Given the description of an element on the screen output the (x, y) to click on. 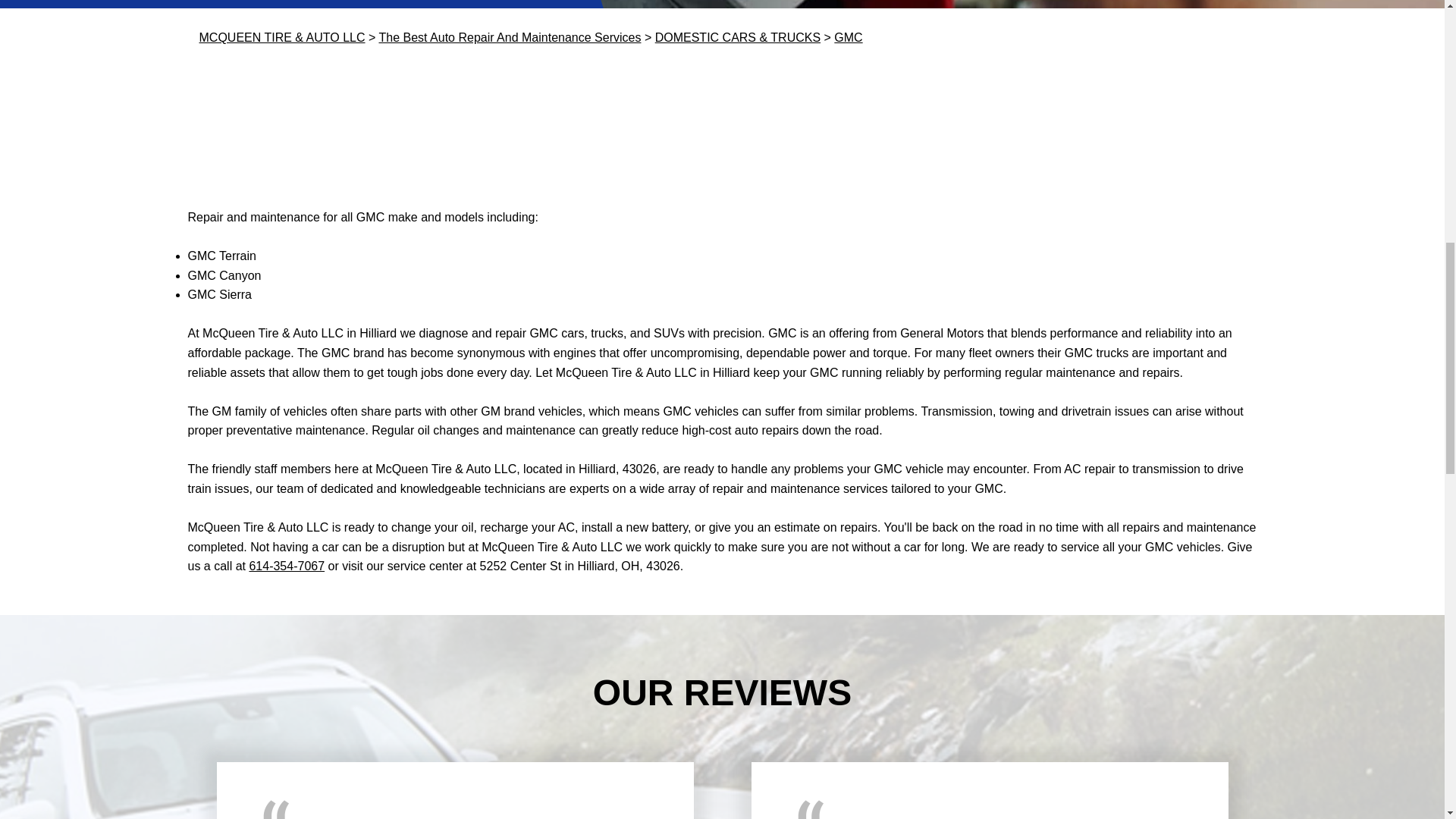
The Best Auto Repair And Maintenance Services (509, 37)
